Given the description of an element on the screen output the (x, y) to click on. 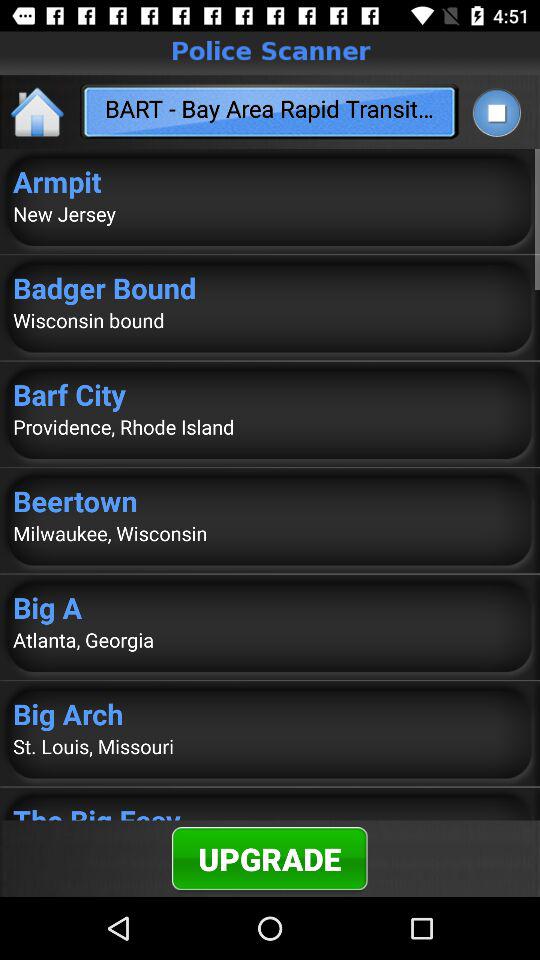
turn off app next to the bart bay area icon (496, 111)
